Given the description of an element on the screen output the (x, y) to click on. 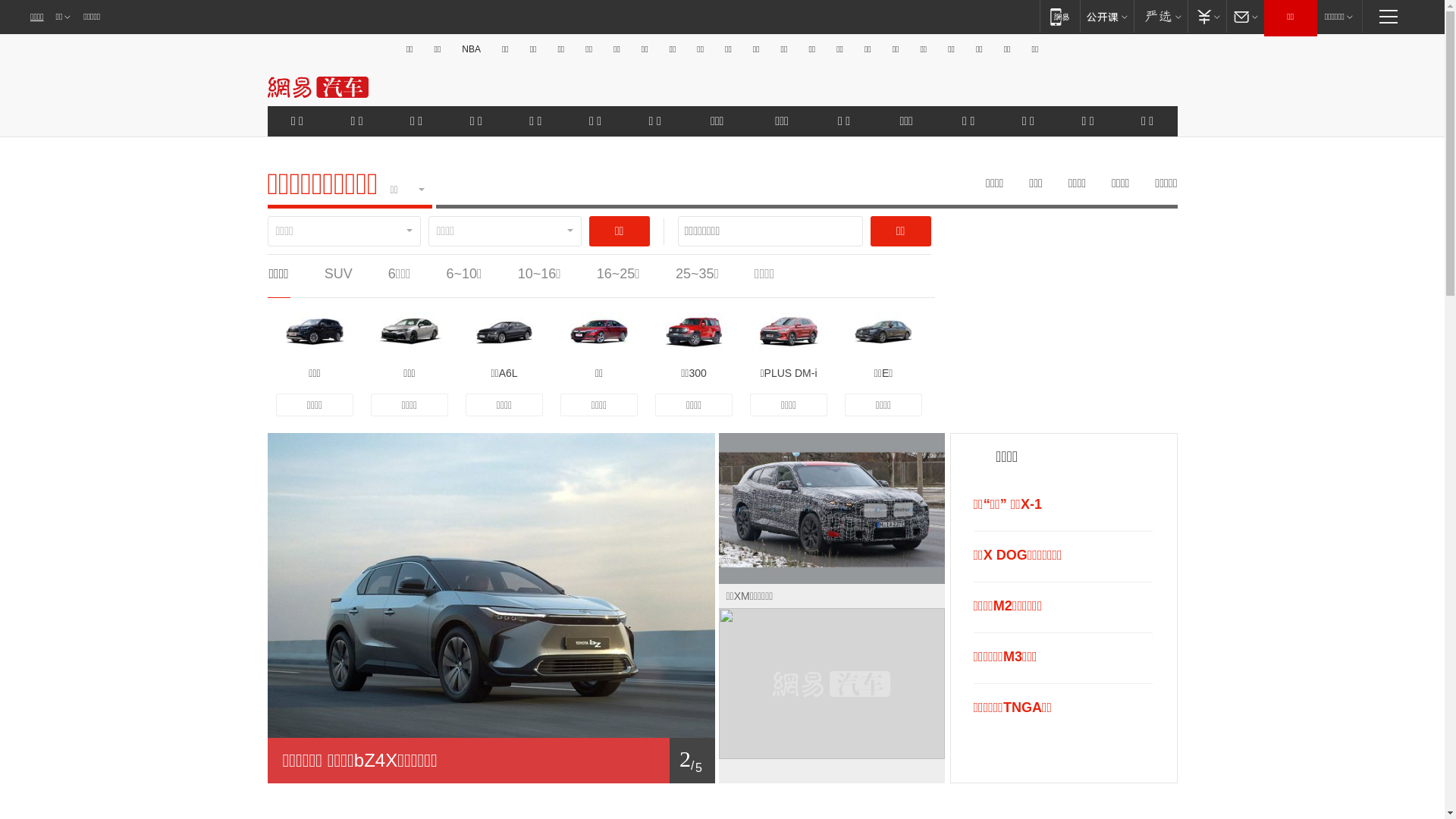
1/ 5 Element type: text (490, 760)
SUV Element type: text (338, 273)
NBA Element type: text (471, 48)
